Given the description of an element on the screen output the (x, y) to click on. 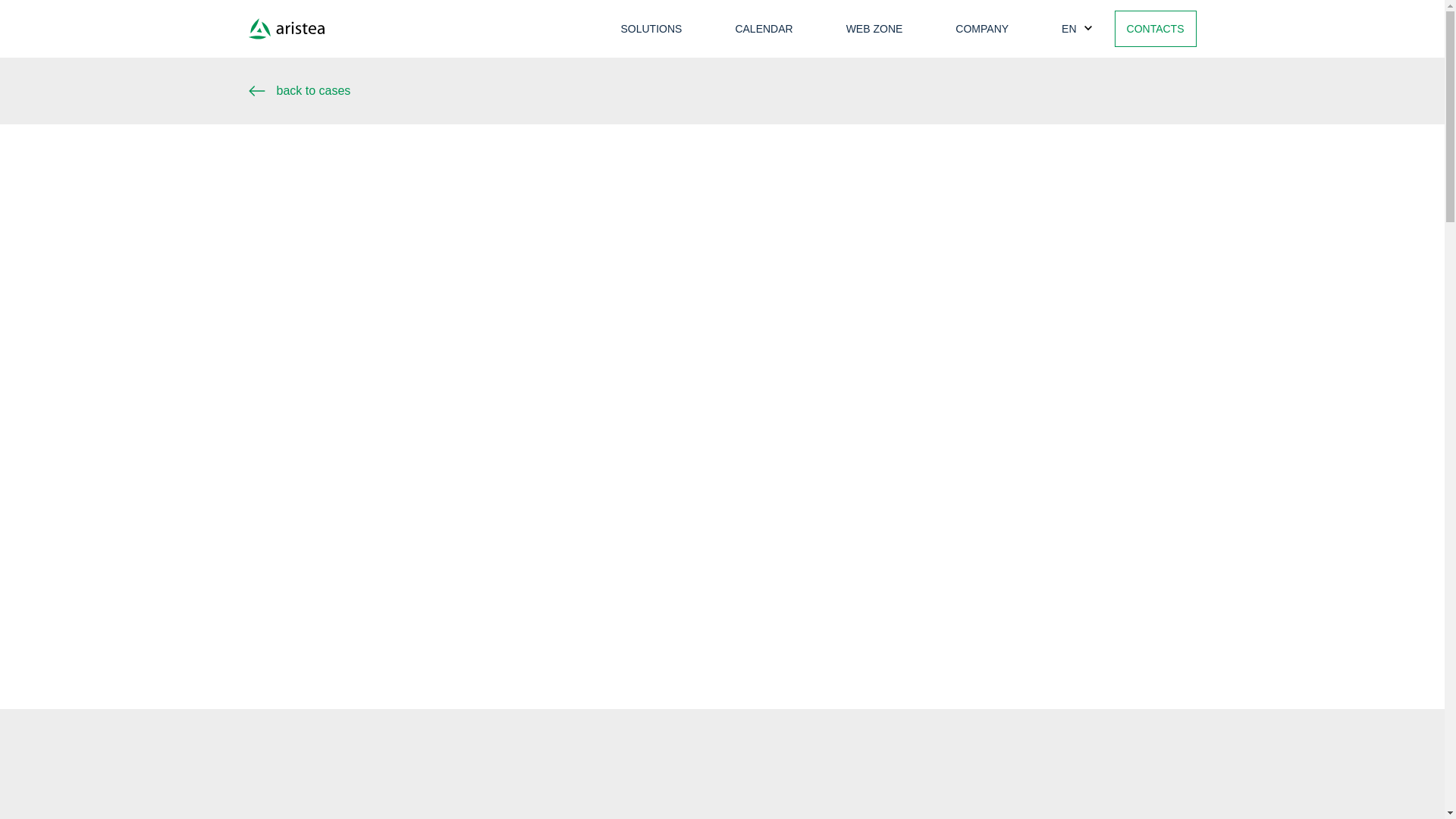
WEB ZONE (874, 28)
CONTACTS (1155, 28)
back to cases (722, 90)
COMPANY (981, 28)
CALENDAR (763, 28)
SOLUTIONS (652, 28)
